Given the description of an element on the screen output the (x, y) to click on. 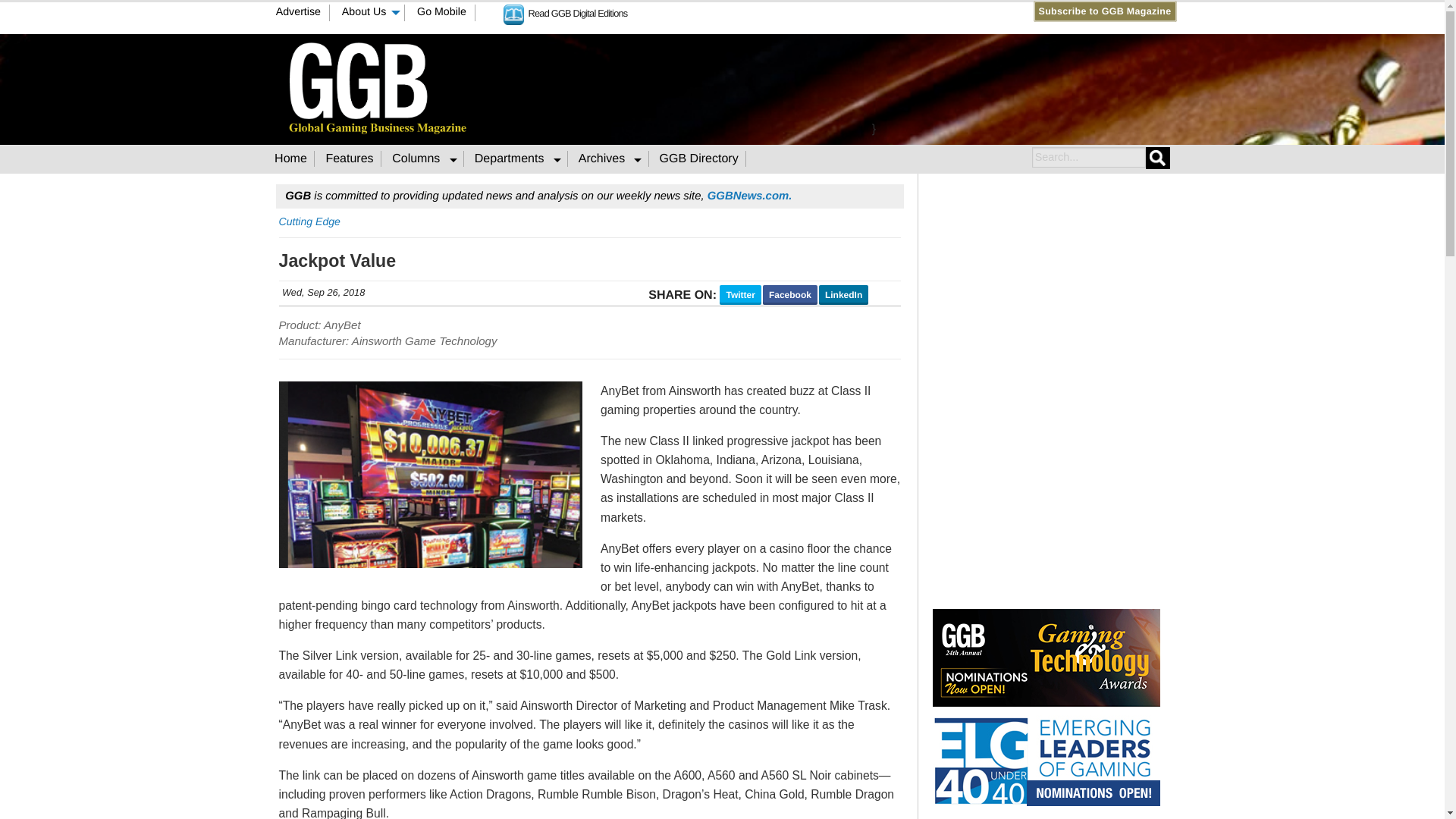
Read GGB Digital Editions (565, 12)
Facebook (752, 11)
GGB Directory (698, 158)
Twitter (767, 11)
About Us (369, 12)
3rd party ad content (873, 86)
Advertise (298, 12)
Search for: (1087, 157)
LinkedIn (781, 11)
GGB News (749, 196)
Go Mobile (442, 12)
